Given the description of an element on the screen output the (x, y) to click on. 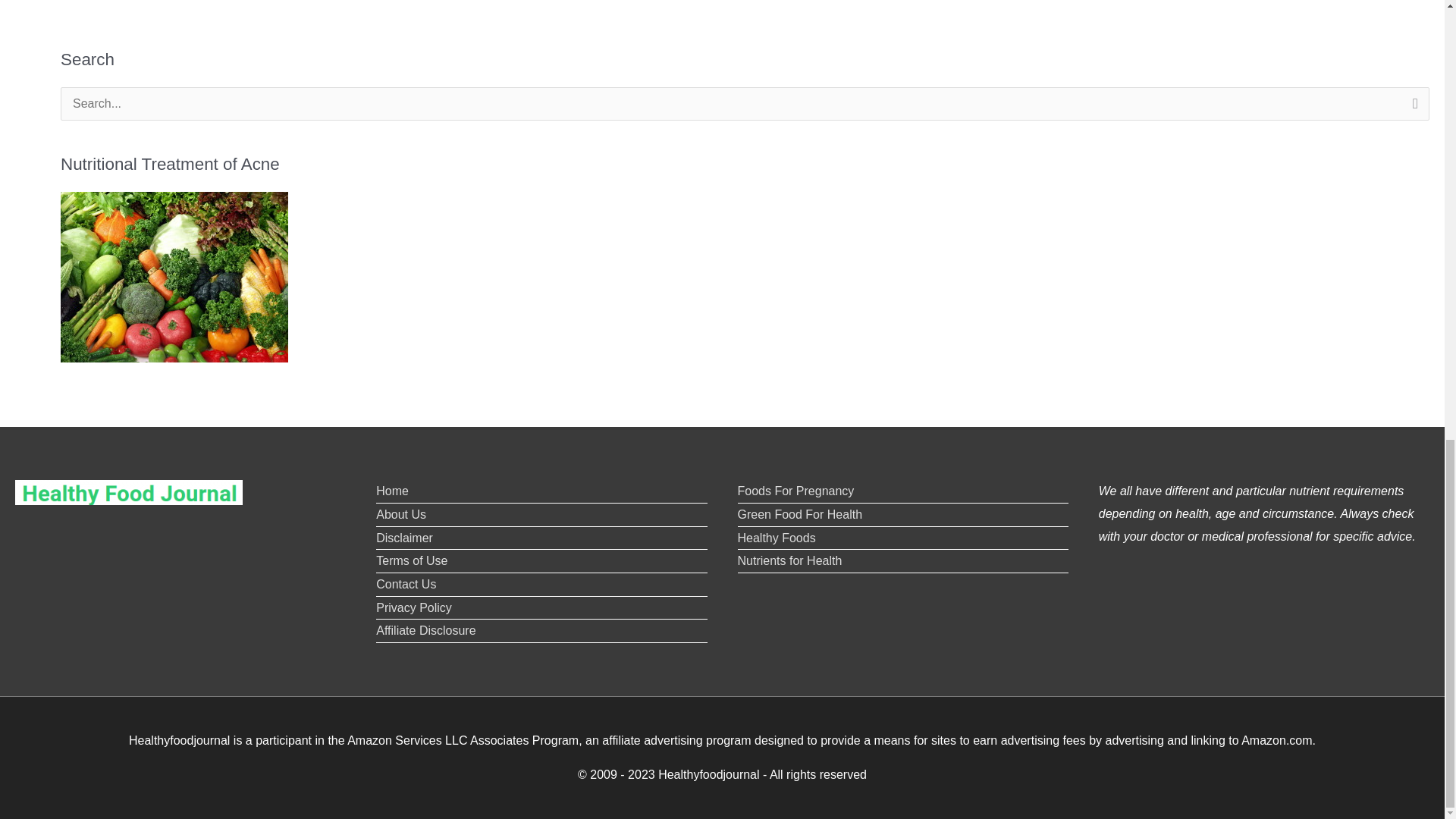
Contact Us (405, 584)
About Us (400, 513)
Healthy Foods (775, 537)
Home (392, 490)
Privacy Policy (413, 607)
Foods For Pregnancy (794, 490)
Terms of Use (410, 560)
Green Food For Health (798, 513)
Nutrients for Health (788, 560)
Affiliate Disclosure (425, 630)
Disclaimer (403, 537)
